Given the description of an element on the screen output the (x, y) to click on. 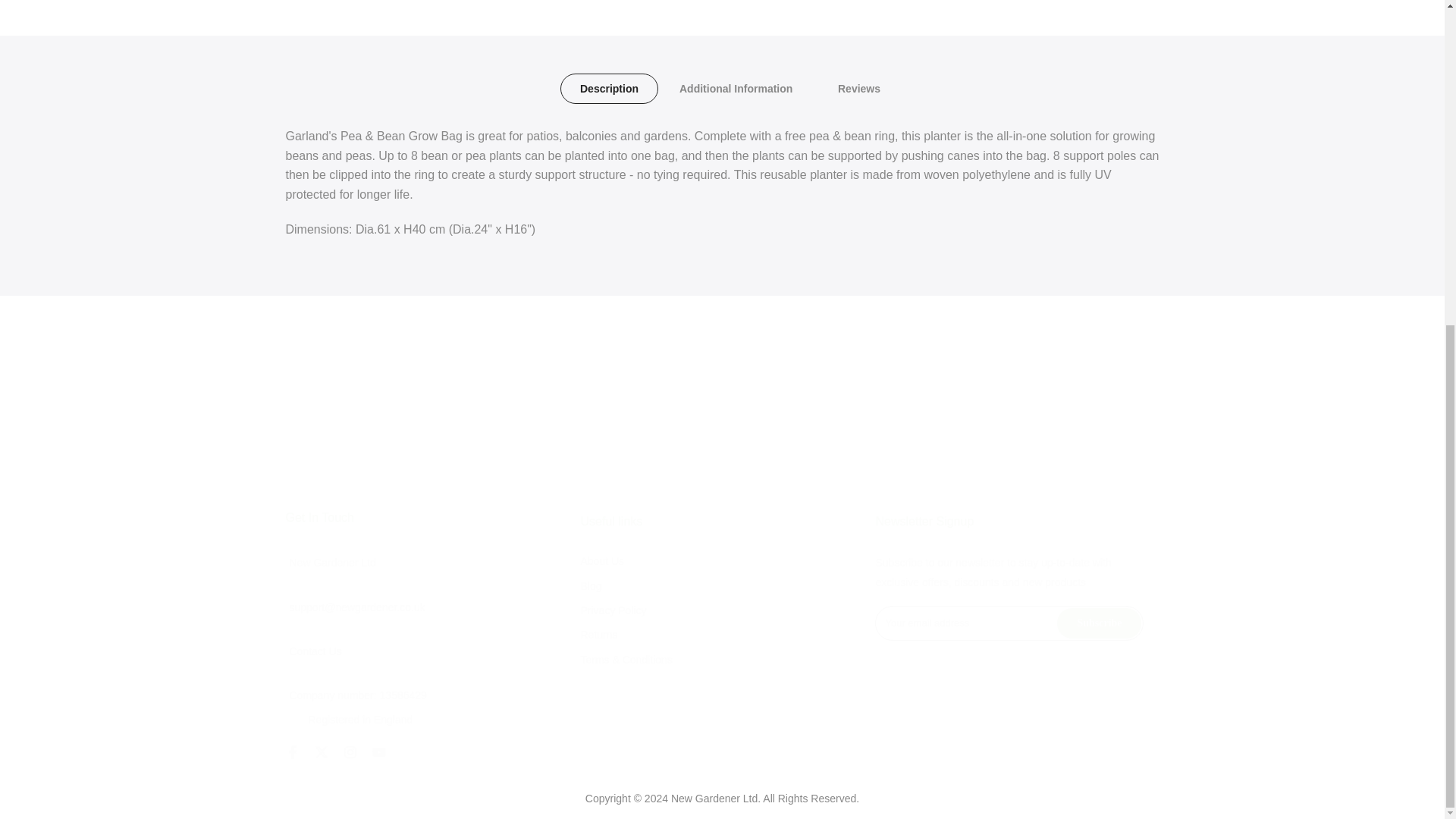
Description (608, 88)
Additional Information (735, 88)
Reviews (857, 88)
Contact Us (315, 651)
